Given the description of an element on the screen output the (x, y) to click on. 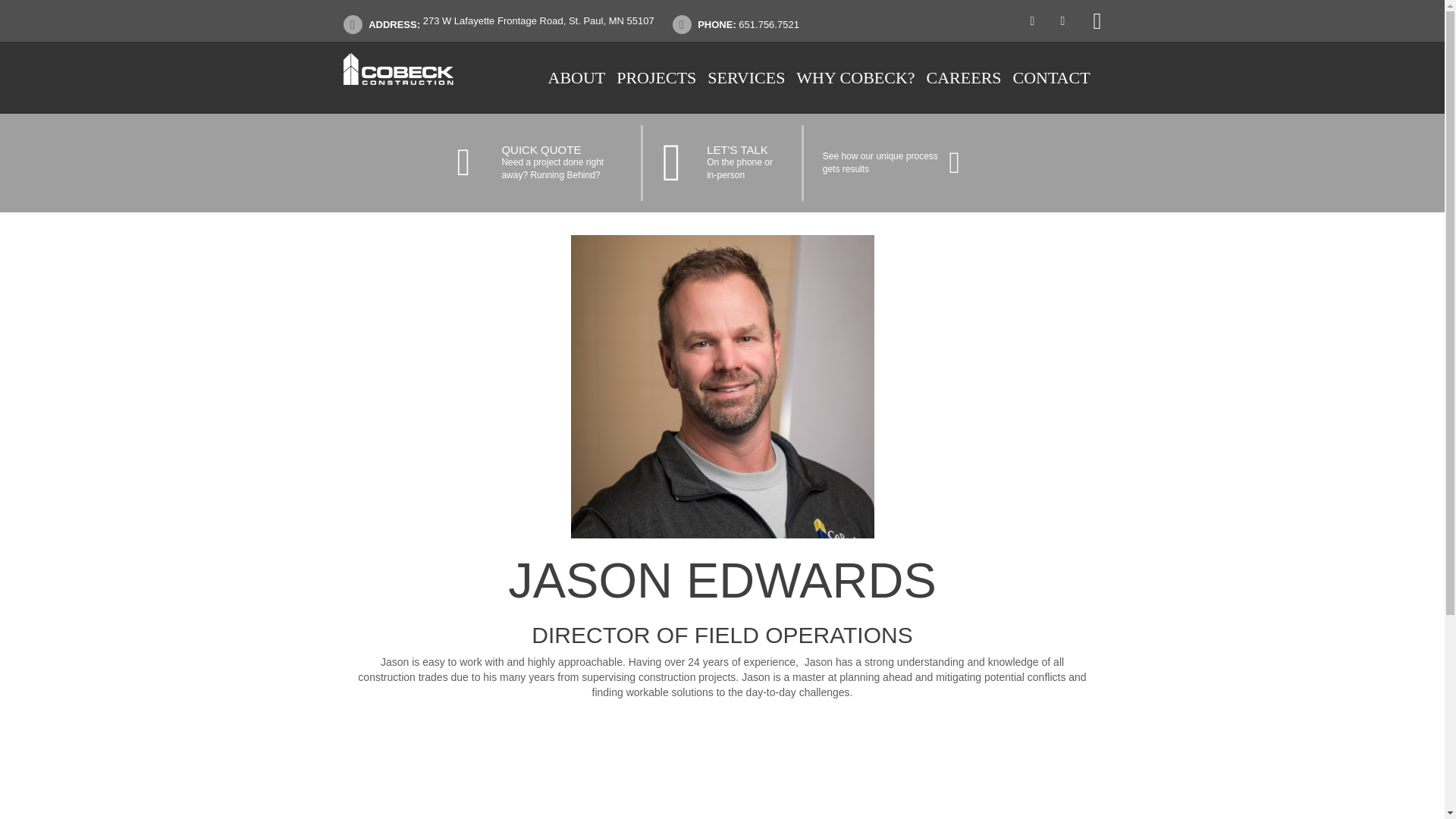
SERVICES (745, 77)
ABOUT (576, 77)
PROJECTS (655, 77)
CONTACT (1050, 77)
CAREERS (548, 162)
WHY COBECK? (963, 77)
